Given the description of an element on the screen output the (x, y) to click on. 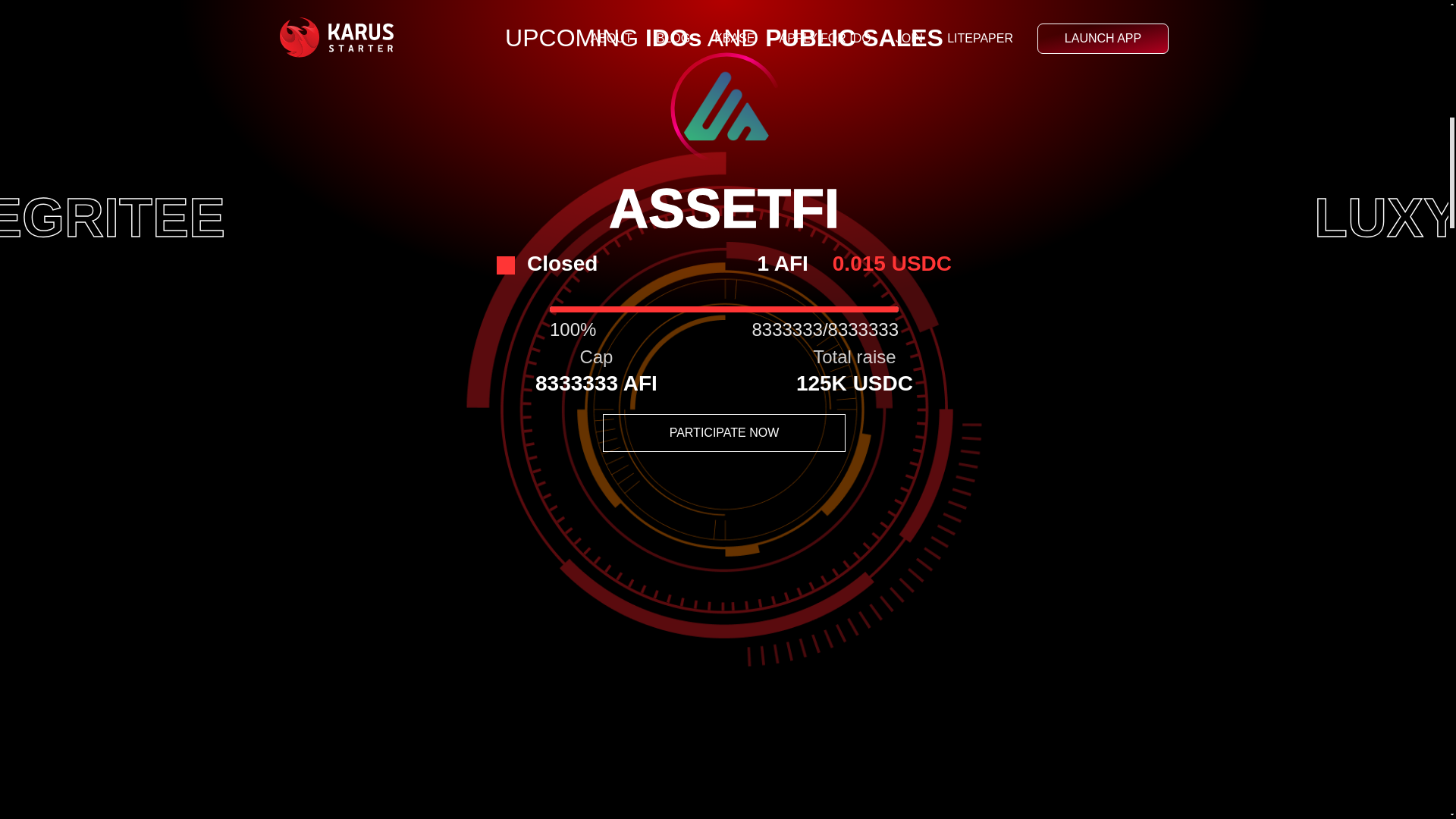
PARTICIPATE NOW (723, 433)
